Given the description of an element on the screen output the (x, y) to click on. 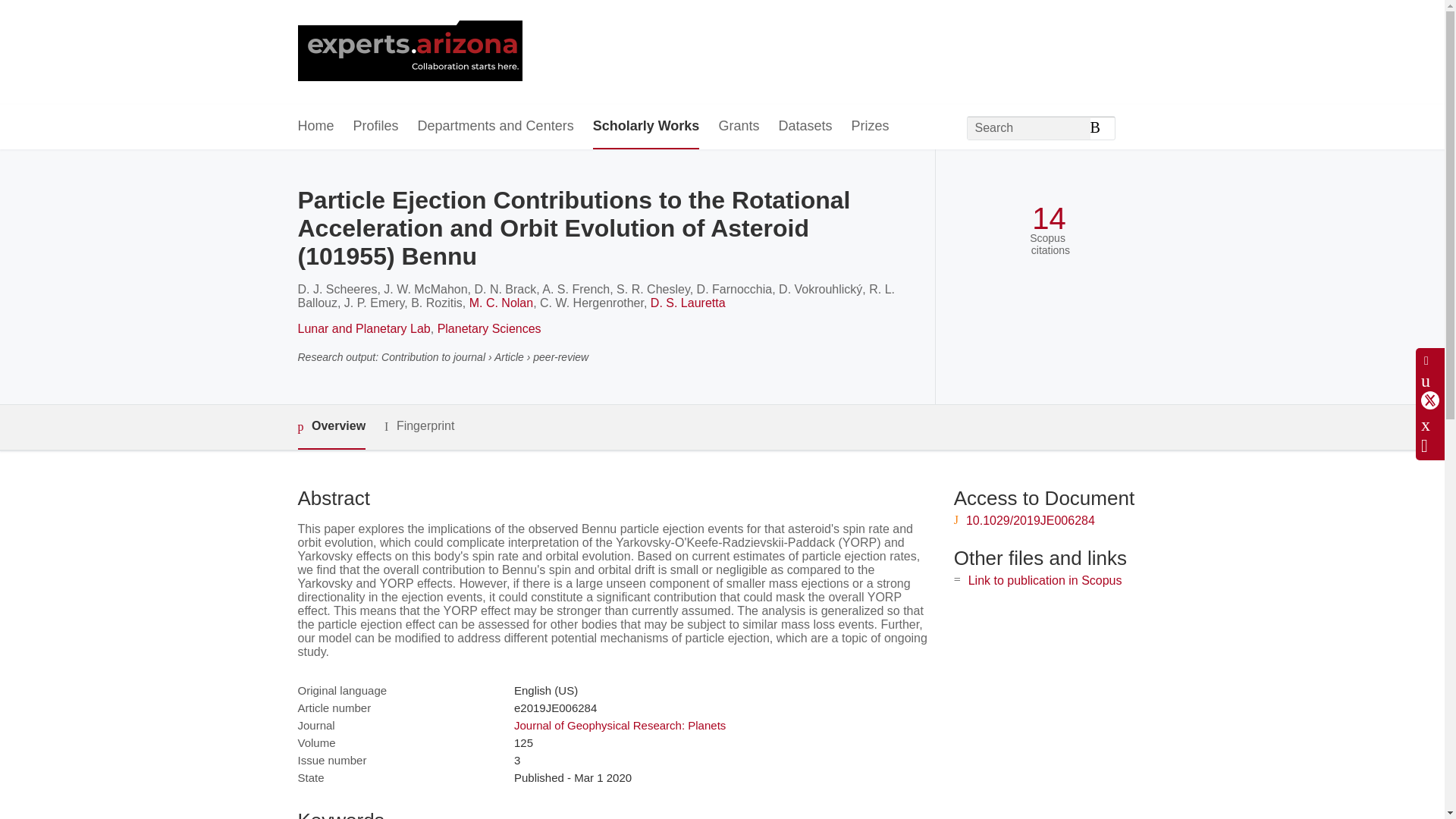
Profiles (375, 126)
University of Arizona Home (409, 52)
Planetary Sciences (489, 328)
Overview (331, 426)
Grants (737, 126)
14 (1048, 218)
D. S. Lauretta (687, 302)
Journal of Geophysical Research: Planets (619, 725)
Fingerprint (419, 425)
Departments and Centers (495, 126)
M. C. Nolan (500, 302)
Datasets (804, 126)
Lunar and Planetary Lab (363, 328)
Scholarly Works (646, 126)
